Given the description of an element on the screen output the (x, y) to click on. 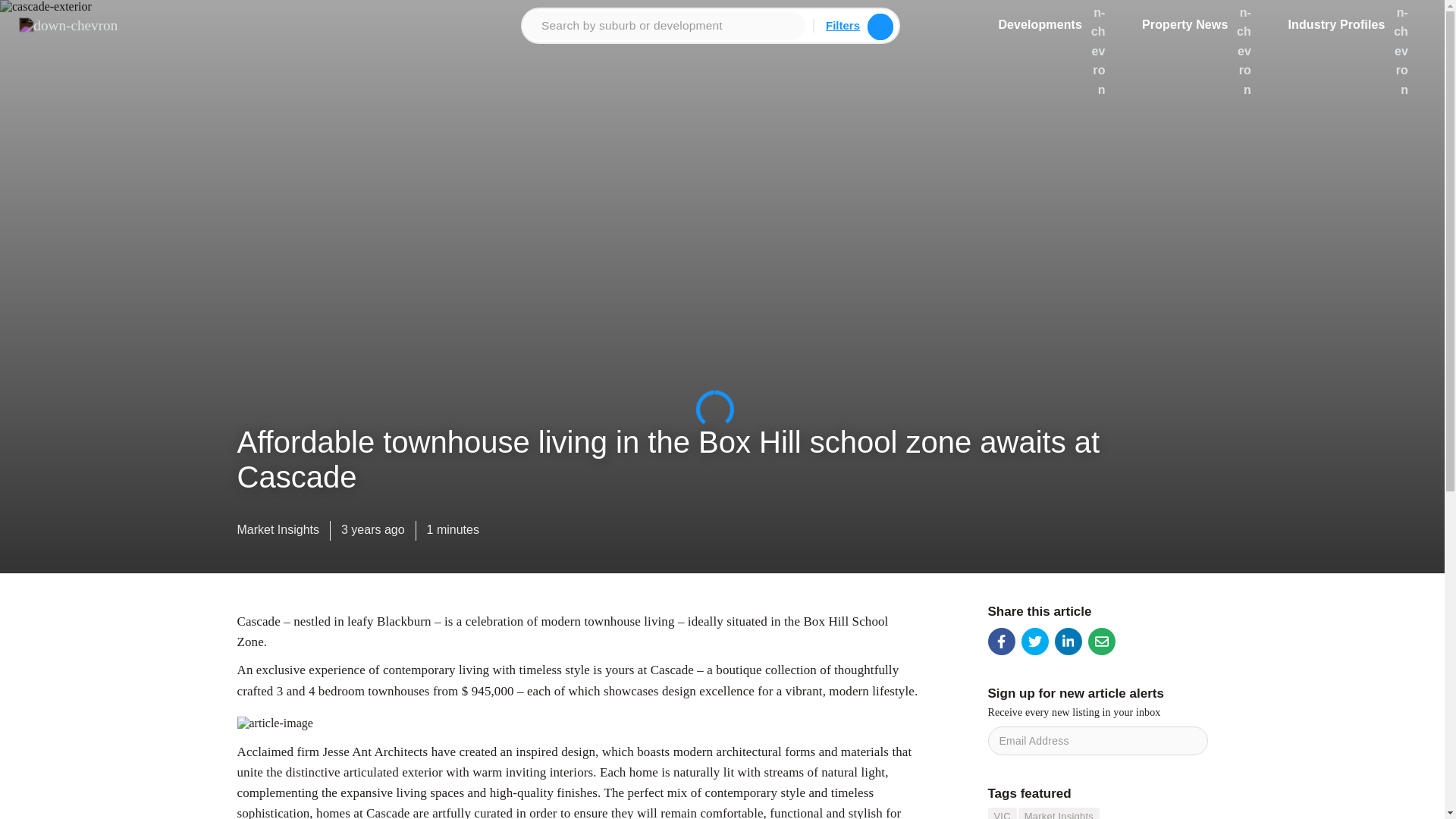
Filters (842, 24)
Market Insights (1058, 813)
Market Insights (276, 532)
VIC (1001, 813)
